Given the description of an element on the screen output the (x, y) to click on. 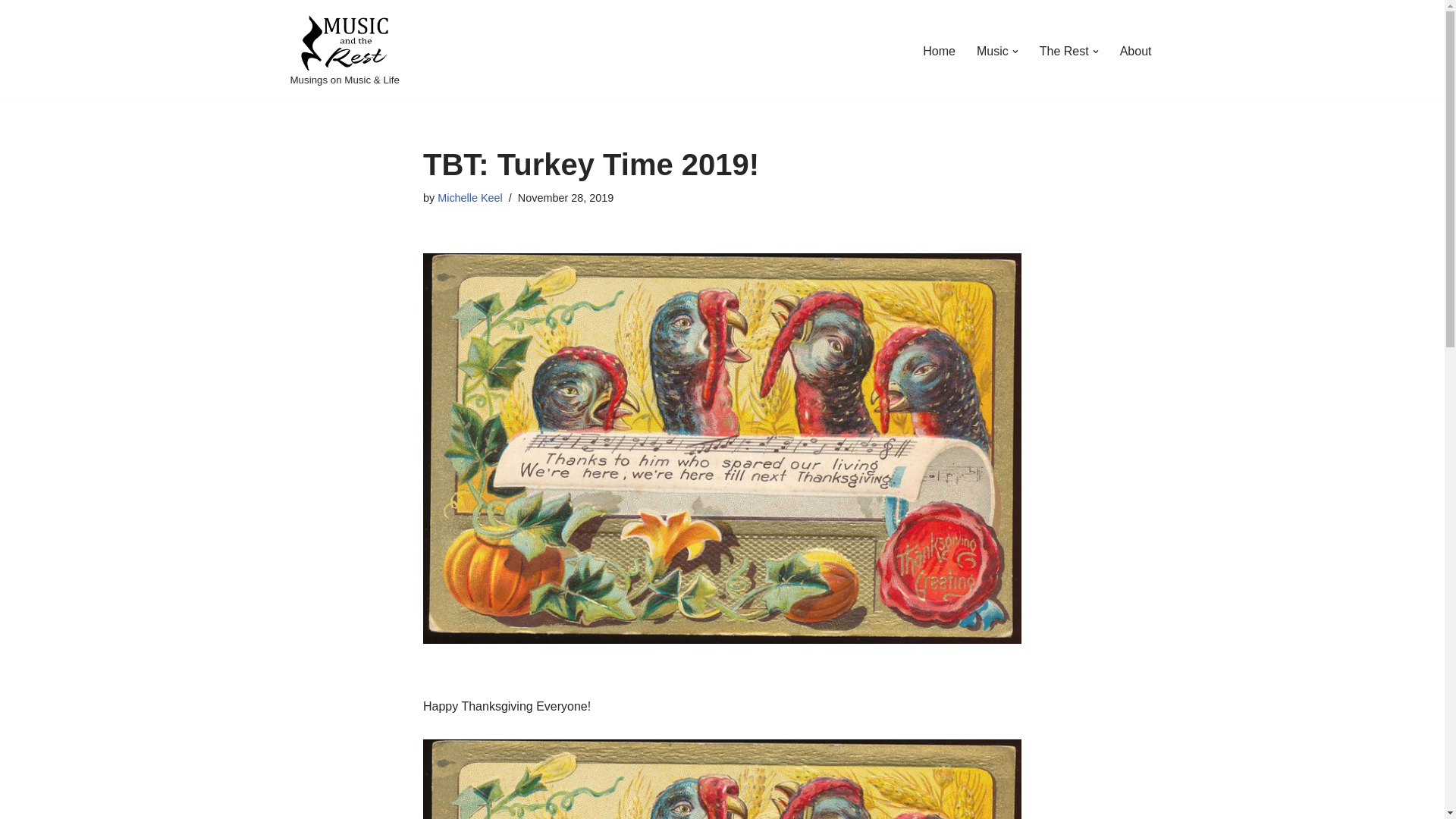
The Rest (1064, 50)
Skip to content (11, 31)
Home (939, 50)
Michelle Keel (470, 197)
Posts by Michelle Keel (470, 197)
Music (992, 50)
About (1135, 50)
